Given the description of an element on the screen output the (x, y) to click on. 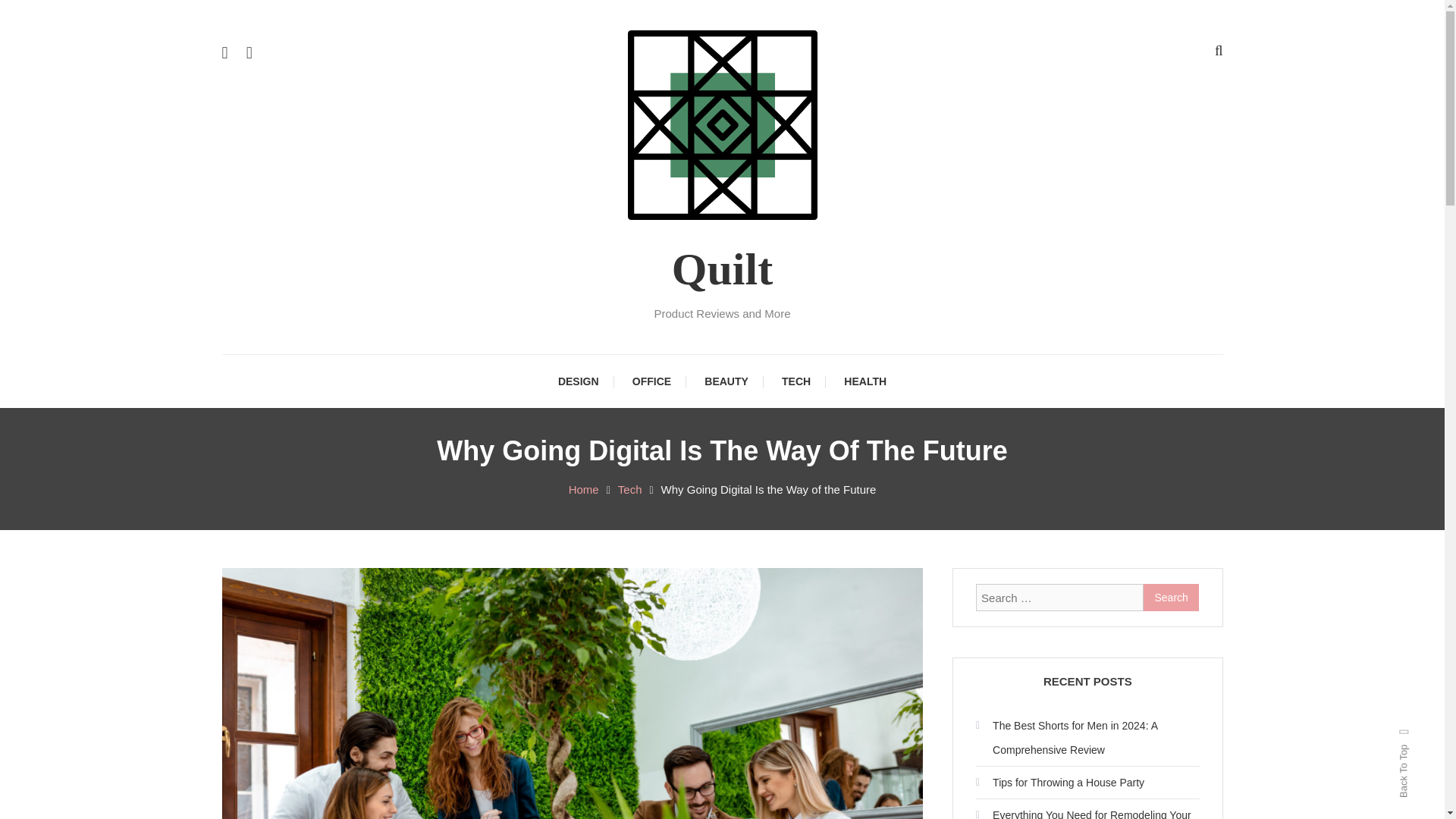
DESIGN (578, 380)
Quilt (722, 269)
Search (768, 432)
Tech (629, 489)
TECH (796, 380)
Search (1170, 596)
Home (583, 489)
BEAUTY (725, 380)
HEALTH (864, 380)
OFFICE (651, 380)
Search (1170, 596)
